Given the description of an element on the screen output the (x, y) to click on. 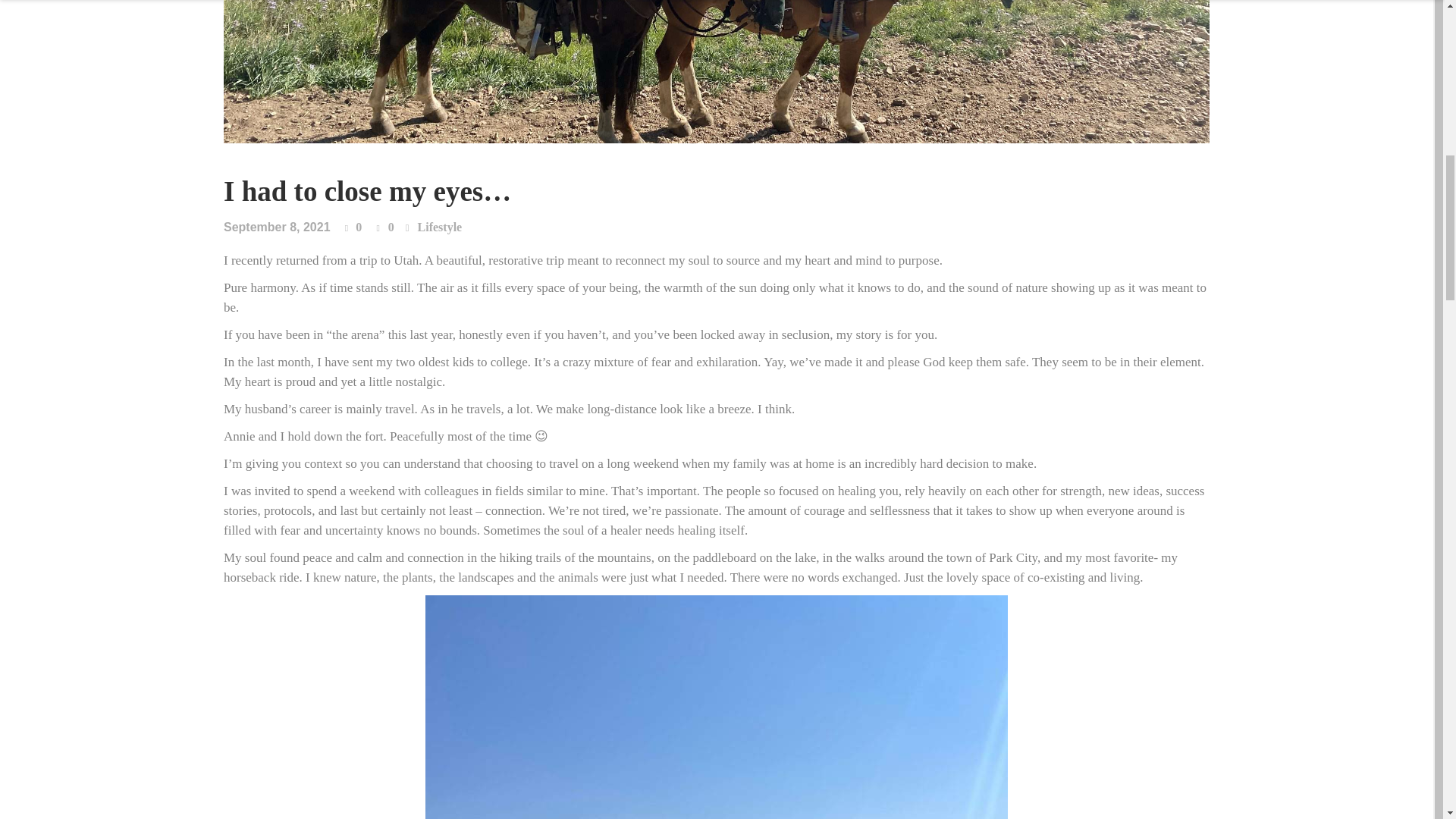
Like this (353, 227)
